Given the description of an element on the screen output the (x, y) to click on. 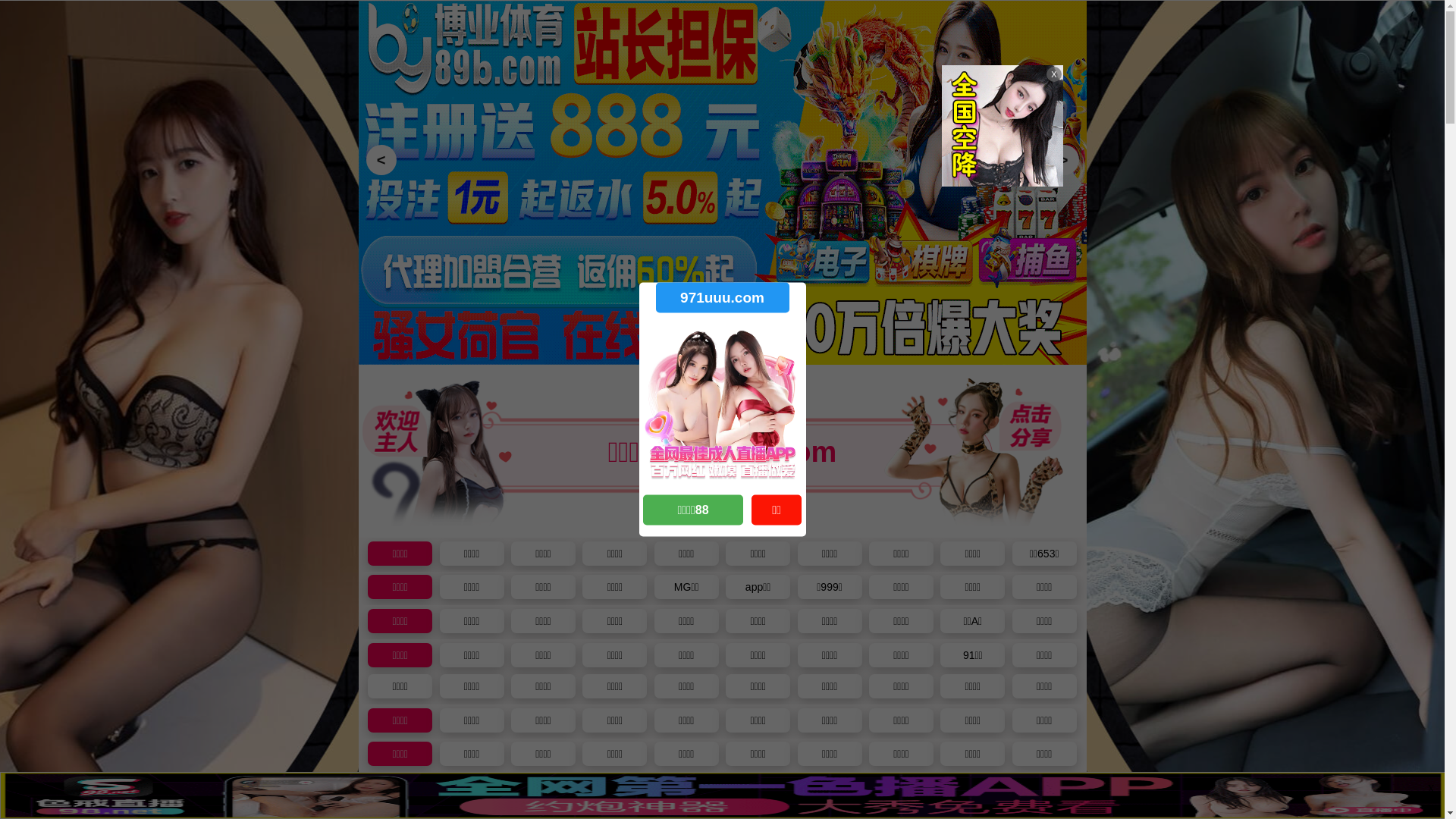
< Element type: text (380, 159)
X Element type: text (1430, 789)
> Element type: text (1063, 159)
971uuu.com Element type: text (721, 297)
